Given the description of an element on the screen output the (x, y) to click on. 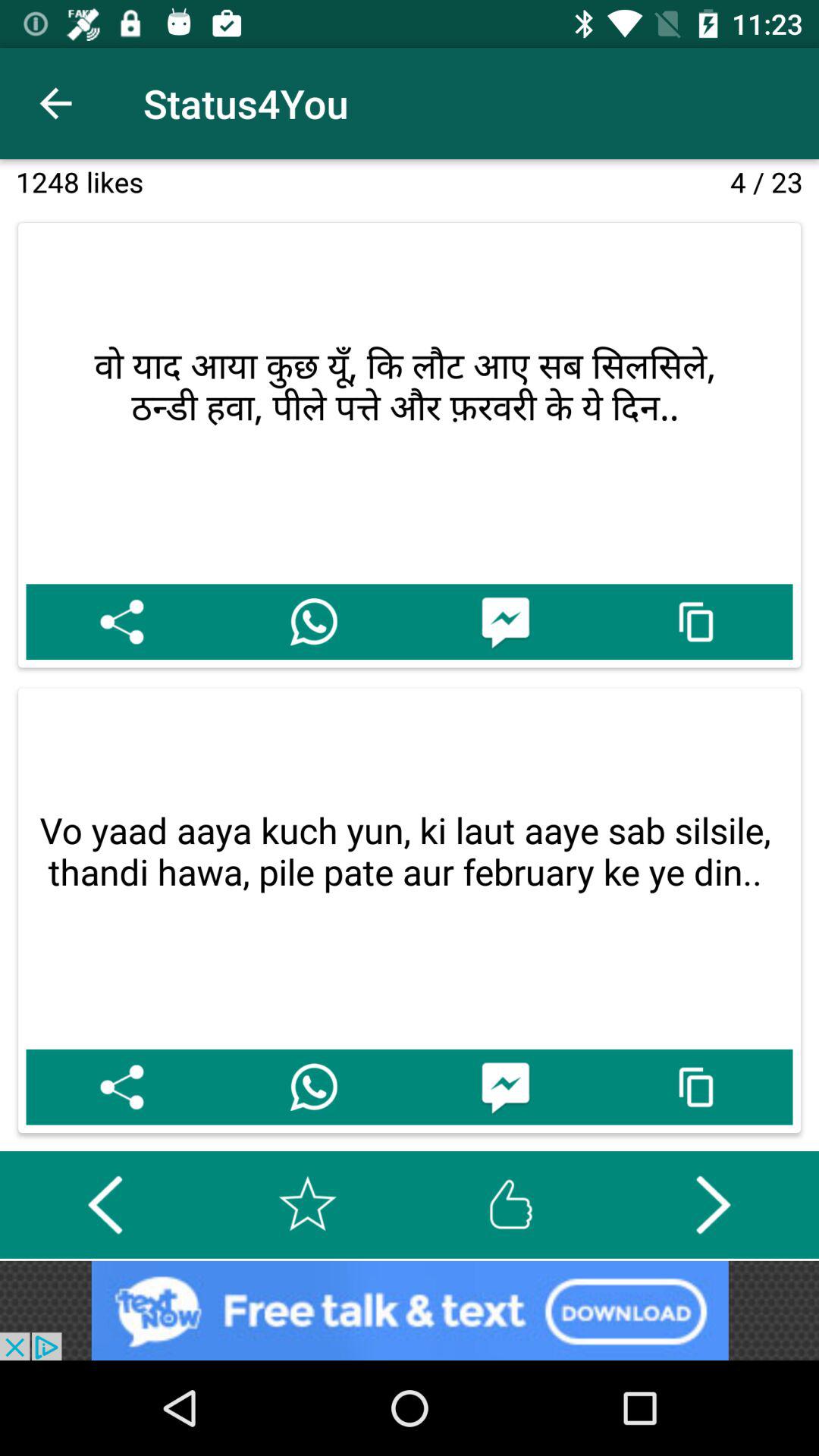
whatsapp sharing option (313, 621)
